Given the description of an element on the screen output the (x, y) to click on. 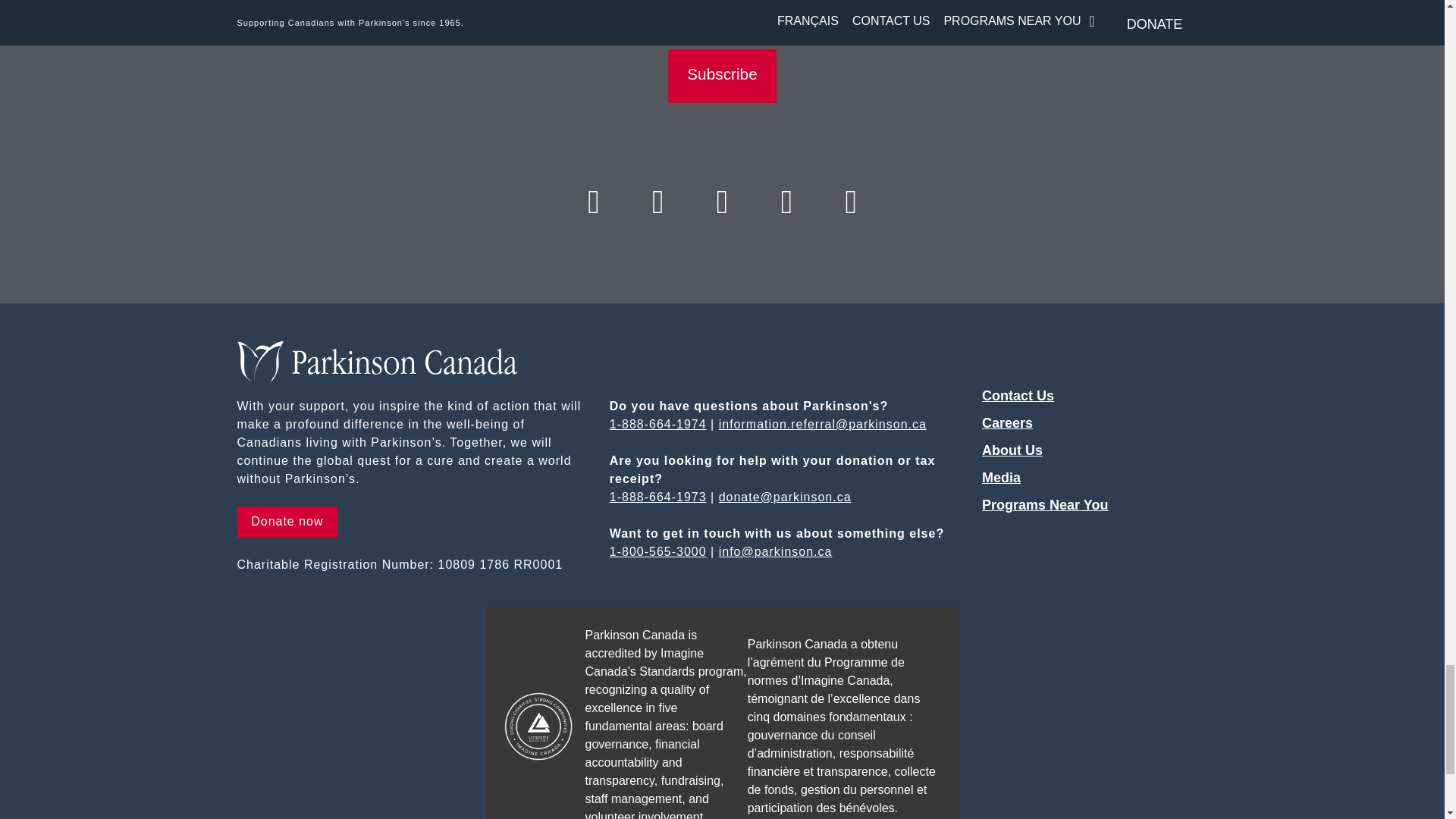
Facebook (593, 202)
